Given the description of an element on the screen output the (x, y) to click on. 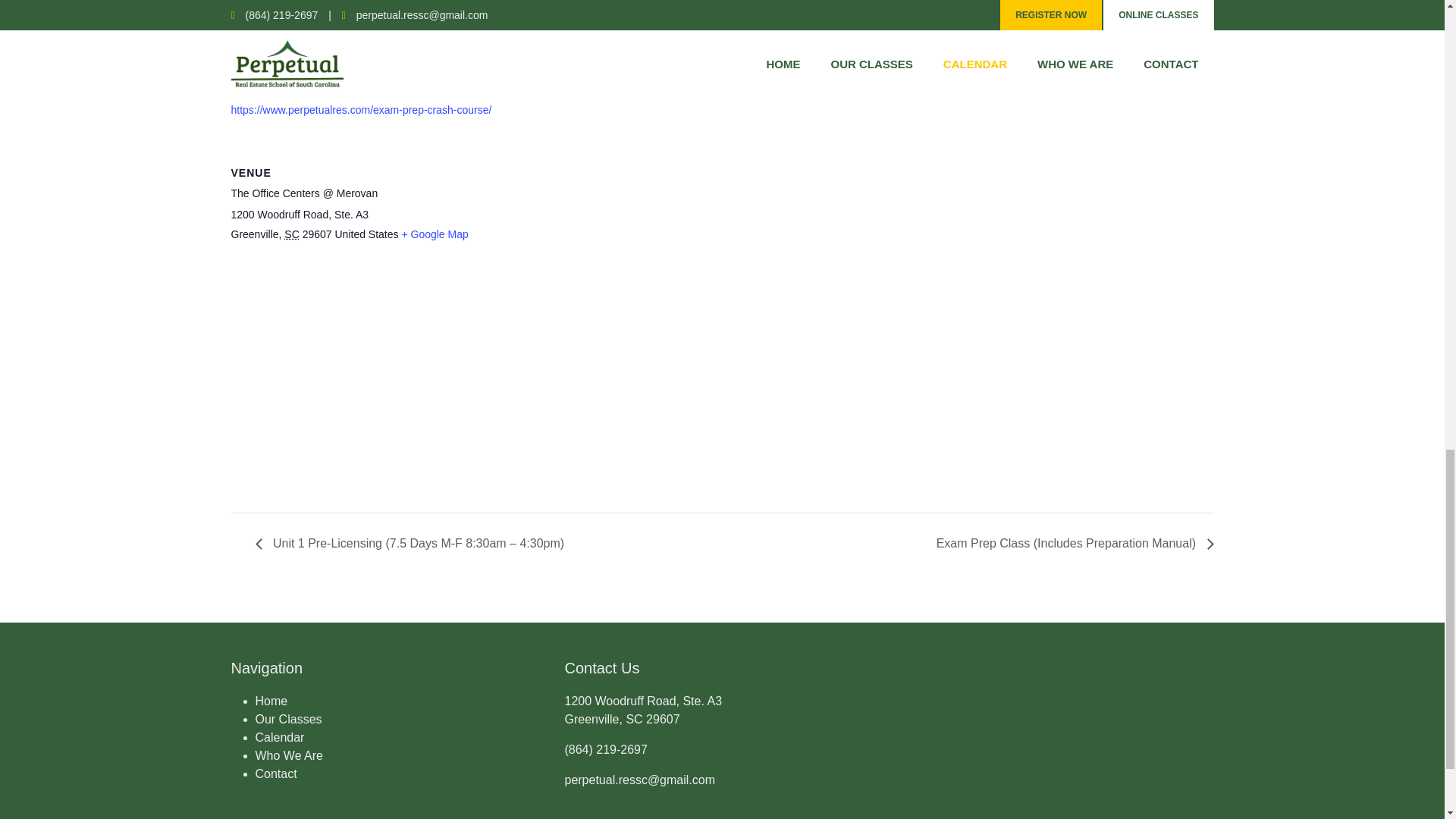
Click to view a Google Map (434, 234)
Home (270, 700)
Review Course (266, 61)
South Carolina (290, 234)
Who We Are (288, 755)
Our Classes (287, 718)
Calendar (279, 737)
Contact (275, 773)
View Organizer Website (778, 21)
